Given the description of an element on the screen output the (x, y) to click on. 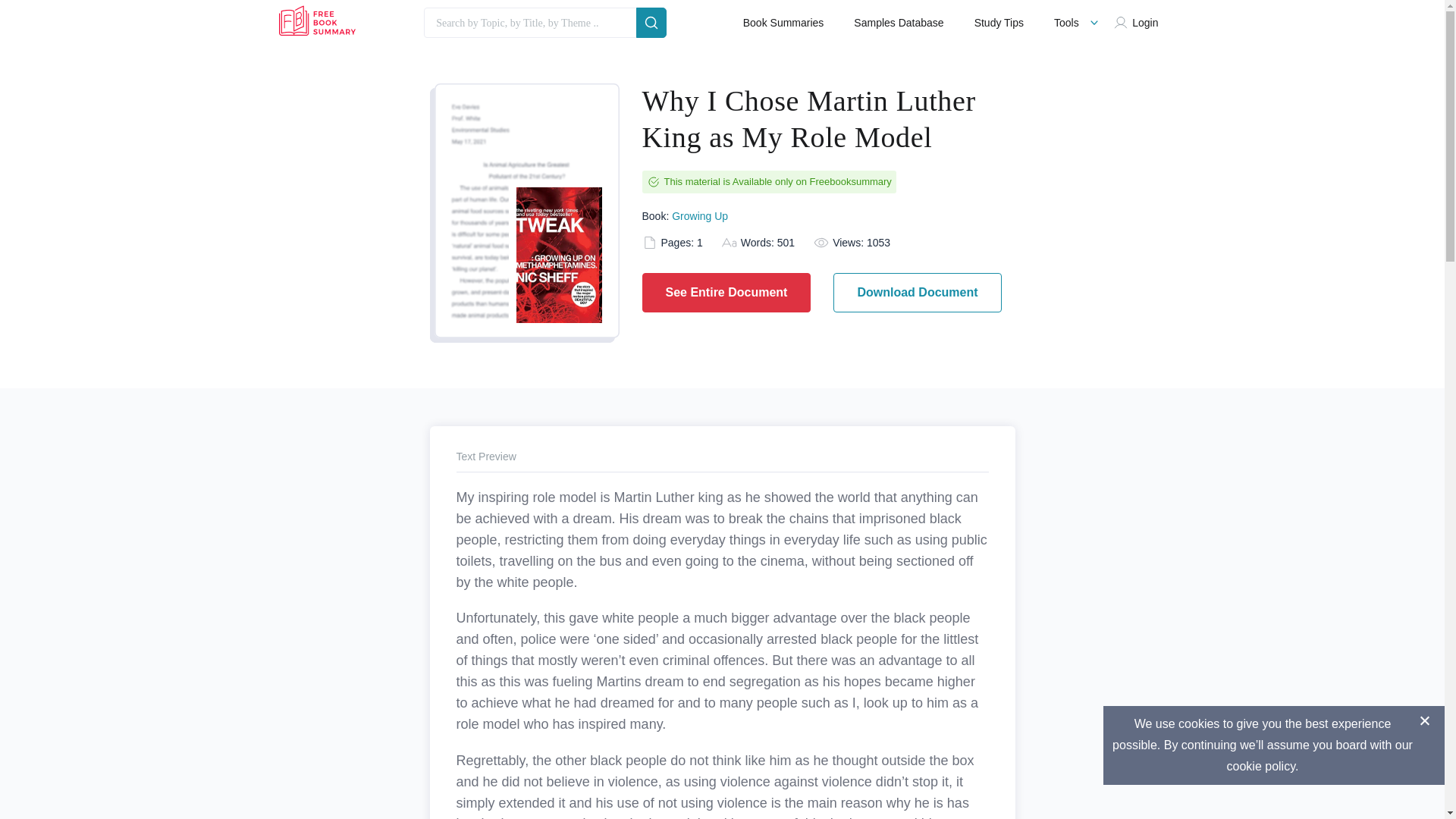
Login (1139, 22)
Book Summaries (783, 22)
Study Tips (998, 22)
Growing Up (699, 215)
Samples Database (897, 22)
